Given the description of an element on the screen output the (x, y) to click on. 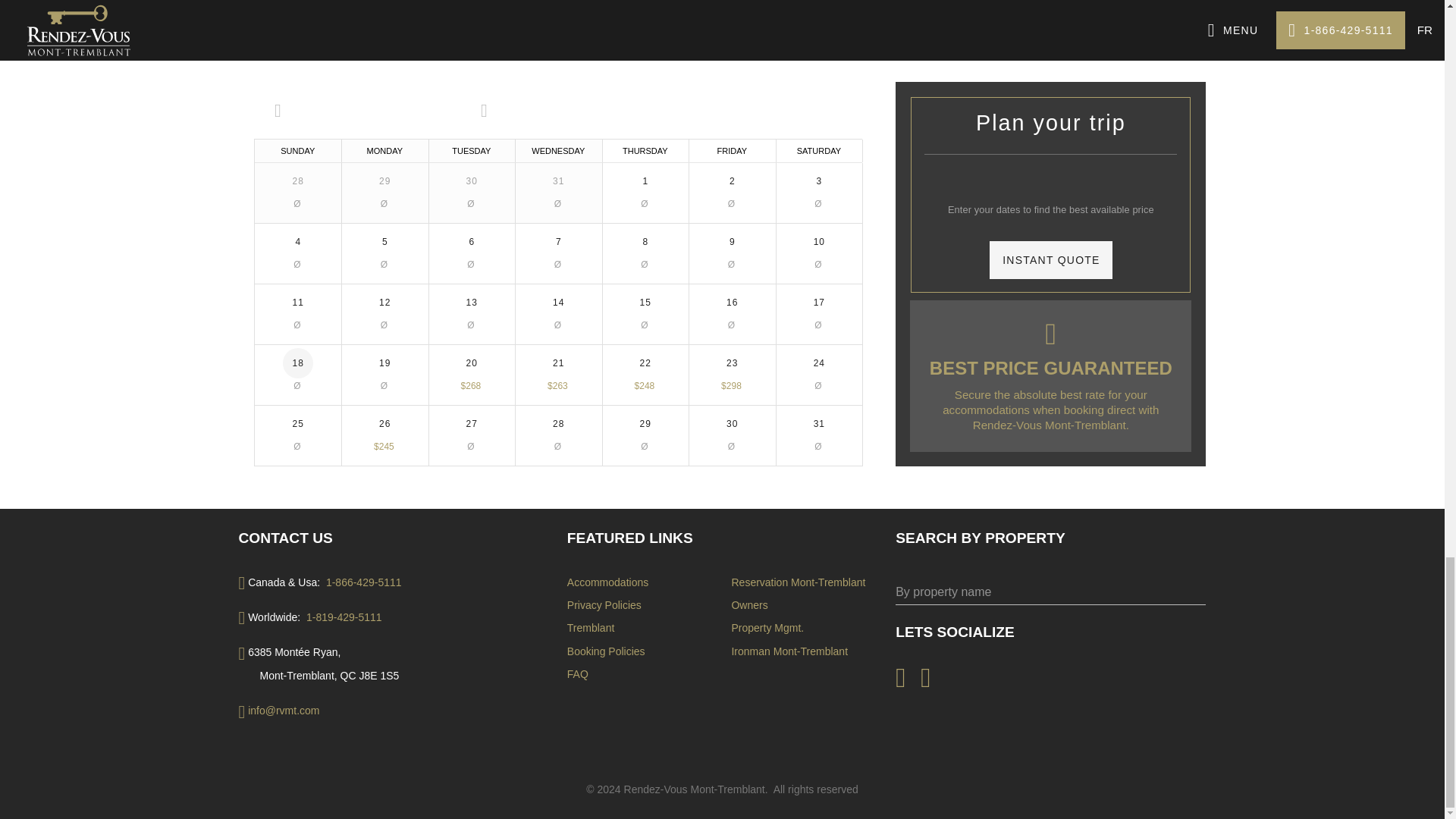
9 (731, 241)
30 (471, 181)
29 (383, 181)
5 (383, 241)
4 (297, 241)
1 (645, 181)
3 (818, 181)
7 (558, 241)
2 (731, 181)
8 (645, 241)
